Given the description of an element on the screen output the (x, y) to click on. 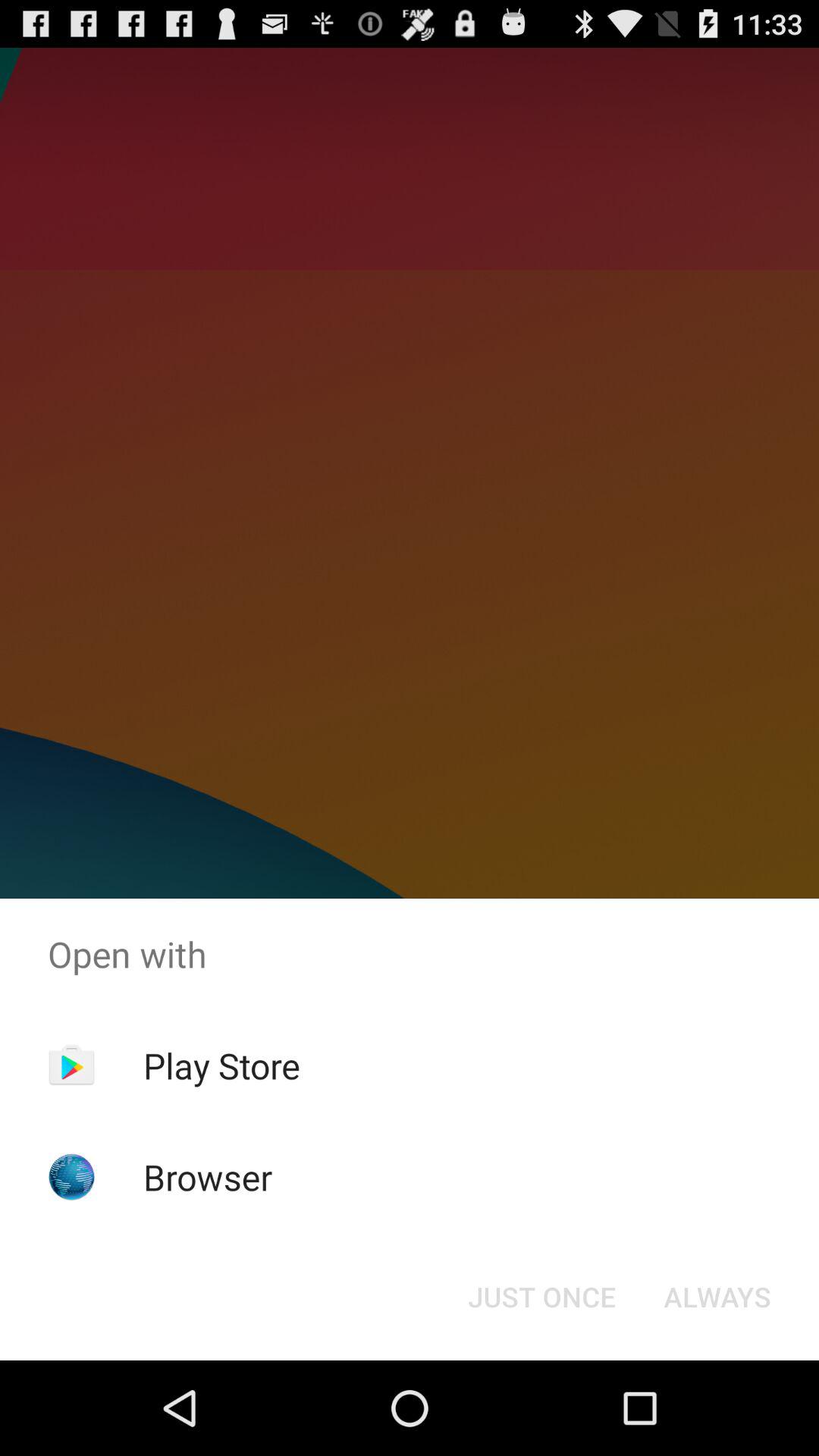
press the item to the left of always item (541, 1296)
